Given the description of an element on the screen output the (x, y) to click on. 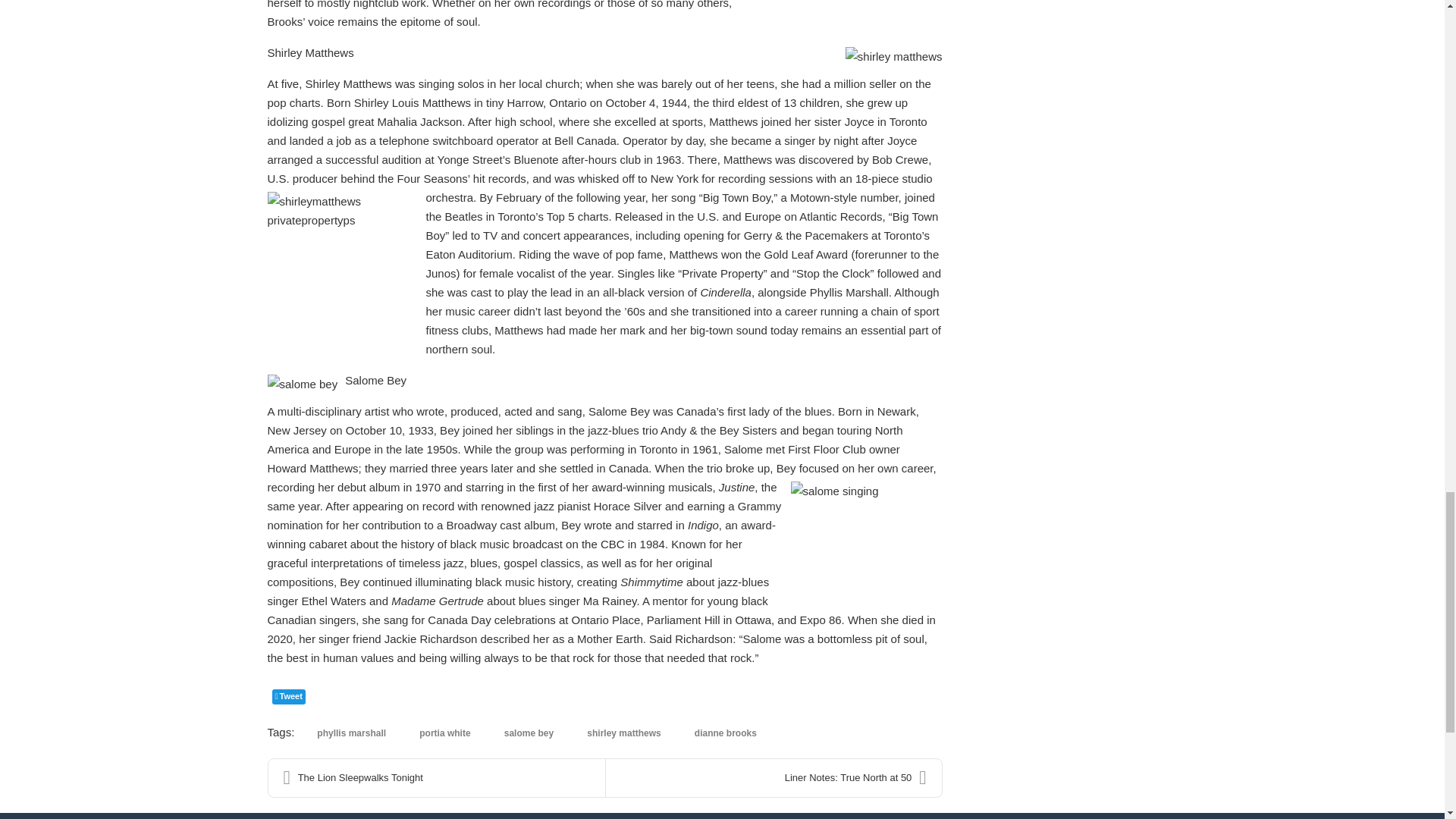
Tweet (287, 695)
salome bey (528, 733)
The Lion Sleepwalks Tonight (436, 777)
shirley matthews (623, 733)
dianne brooks (725, 733)
phyllis marshall (350, 733)
portia white (444, 733)
Liner Notes: True North at 50 (772, 777)
